Given the description of an element on the screen output the (x, y) to click on. 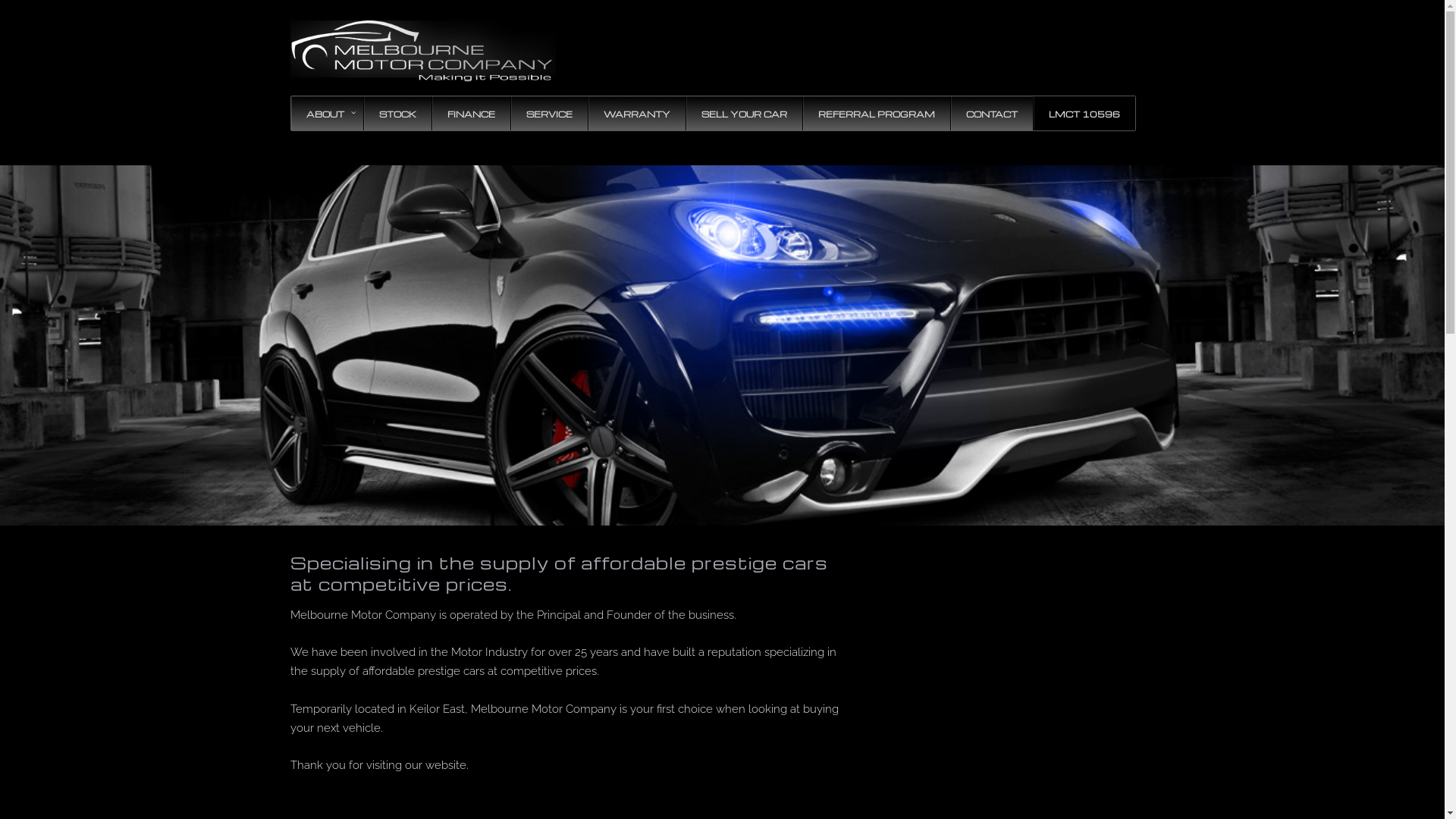
FINANCE Element type: text (469, 113)
SELL YOUR CAR Element type: text (743, 113)
REFERRAL PROGRAM Element type: text (876, 113)
WARRANTY Element type: text (635, 113)
ABOUT Element type: text (327, 113)
SERVICE Element type: text (547, 113)
Melbourne Motor Company Element type: hover (422, 47)
LMCT 10596 Element type: text (1083, 113)
STOCK Element type: text (396, 113)
CONTACT Element type: text (990, 113)
